Given the description of an element on the screen output the (x, y) to click on. 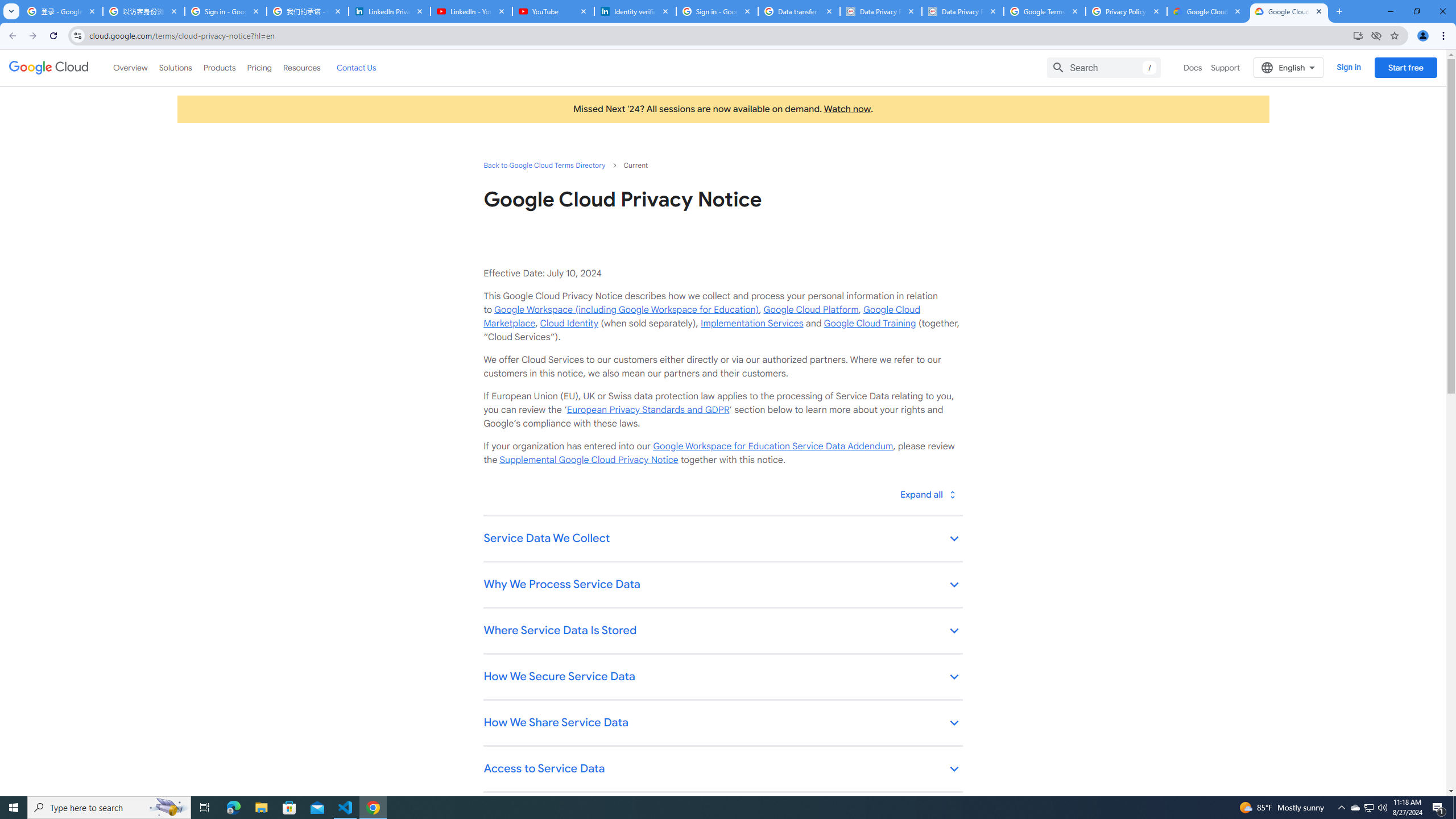
LinkedIn - YouTube (470, 11)
Cloud Identity (569, 323)
English (1288, 67)
Service Data We Collect keyboard_arrow_down (722, 539)
YouTube (552, 11)
Pricing (259, 67)
